Given the description of an element on the screen output the (x, y) to click on. 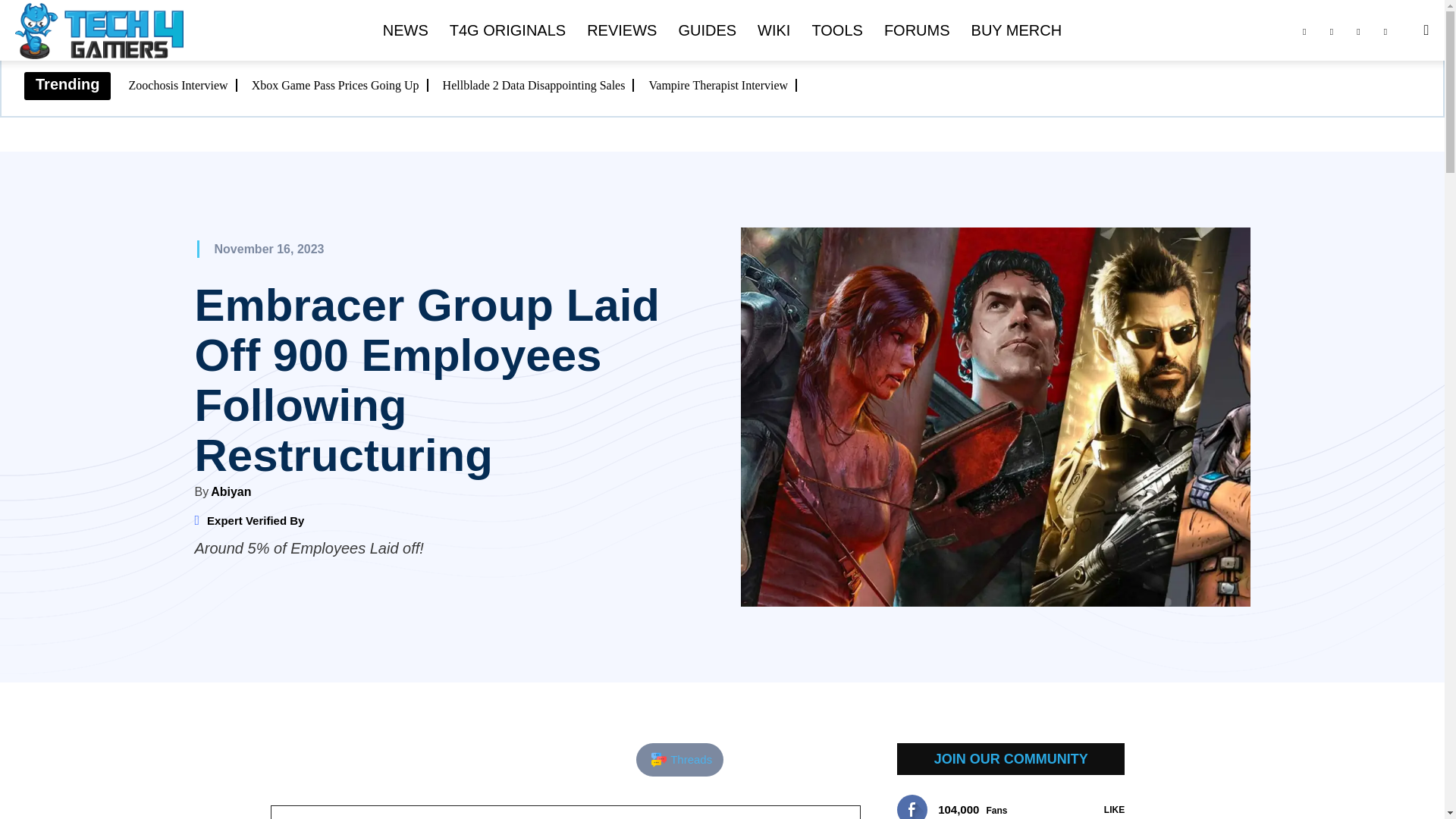
Zoochosis Interview (183, 84)
Tech4Gamers Logo (98, 30)
Xbox Game Pass Prices Going Up (339, 84)
Hellblade 2 Data Disappointing Sales (538, 84)
